Given the description of an element on the screen output the (x, y) to click on. 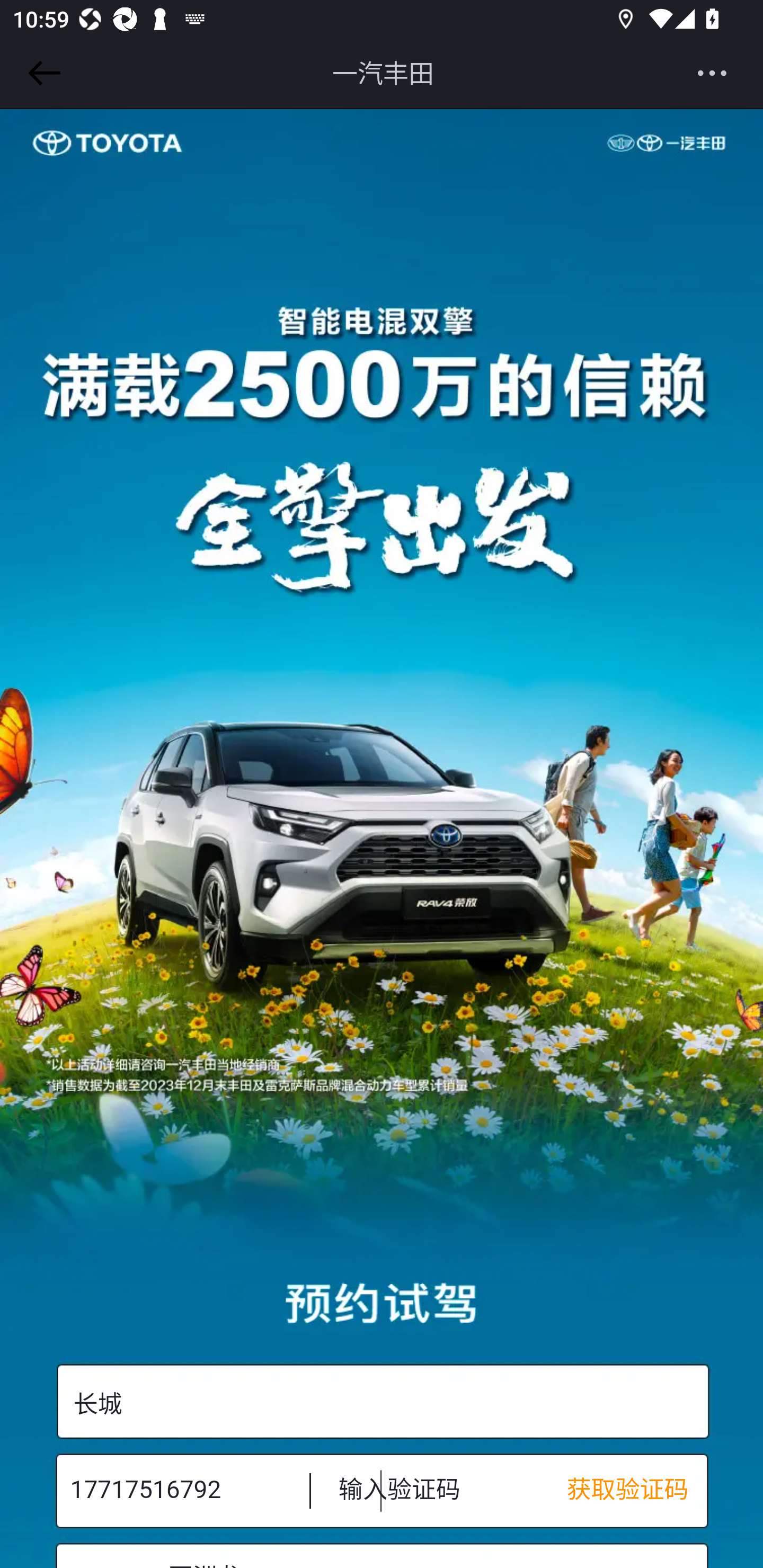
 (41, 72)
长城 (381, 1402)
17717516792 (176, 1490)
获取验证码 (637, 1490)
